Given the description of an element on the screen output the (x, y) to click on. 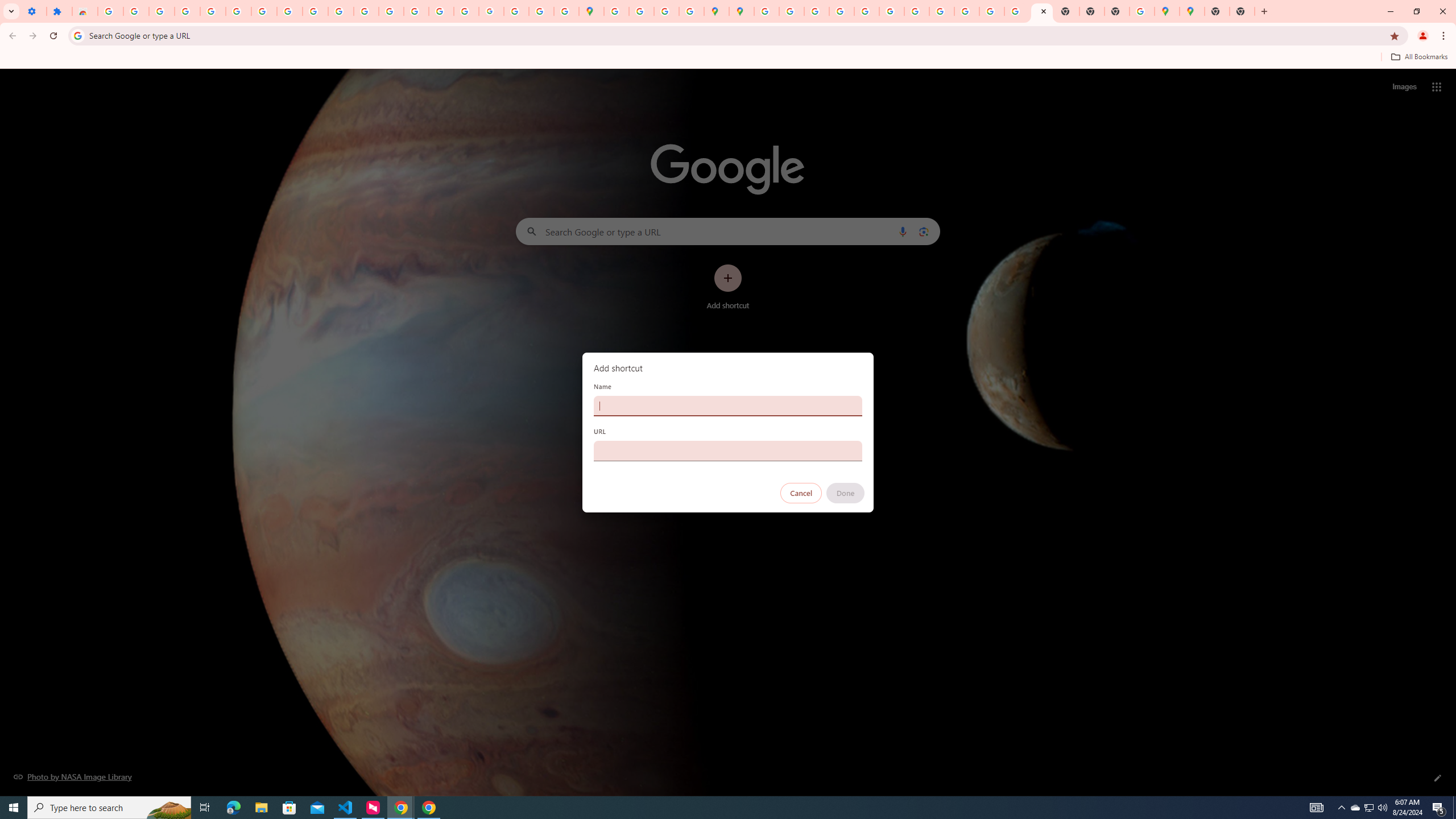
Reviews: Helix Fruit Jump Arcade Game (84, 11)
Use Google Maps in Space - Google Maps Help (1141, 11)
New Tab (1241, 11)
Privacy Help Center - Policies Help (391, 11)
Done (845, 493)
Google Maps (1166, 11)
